Given the description of an element on the screen output the (x, y) to click on. 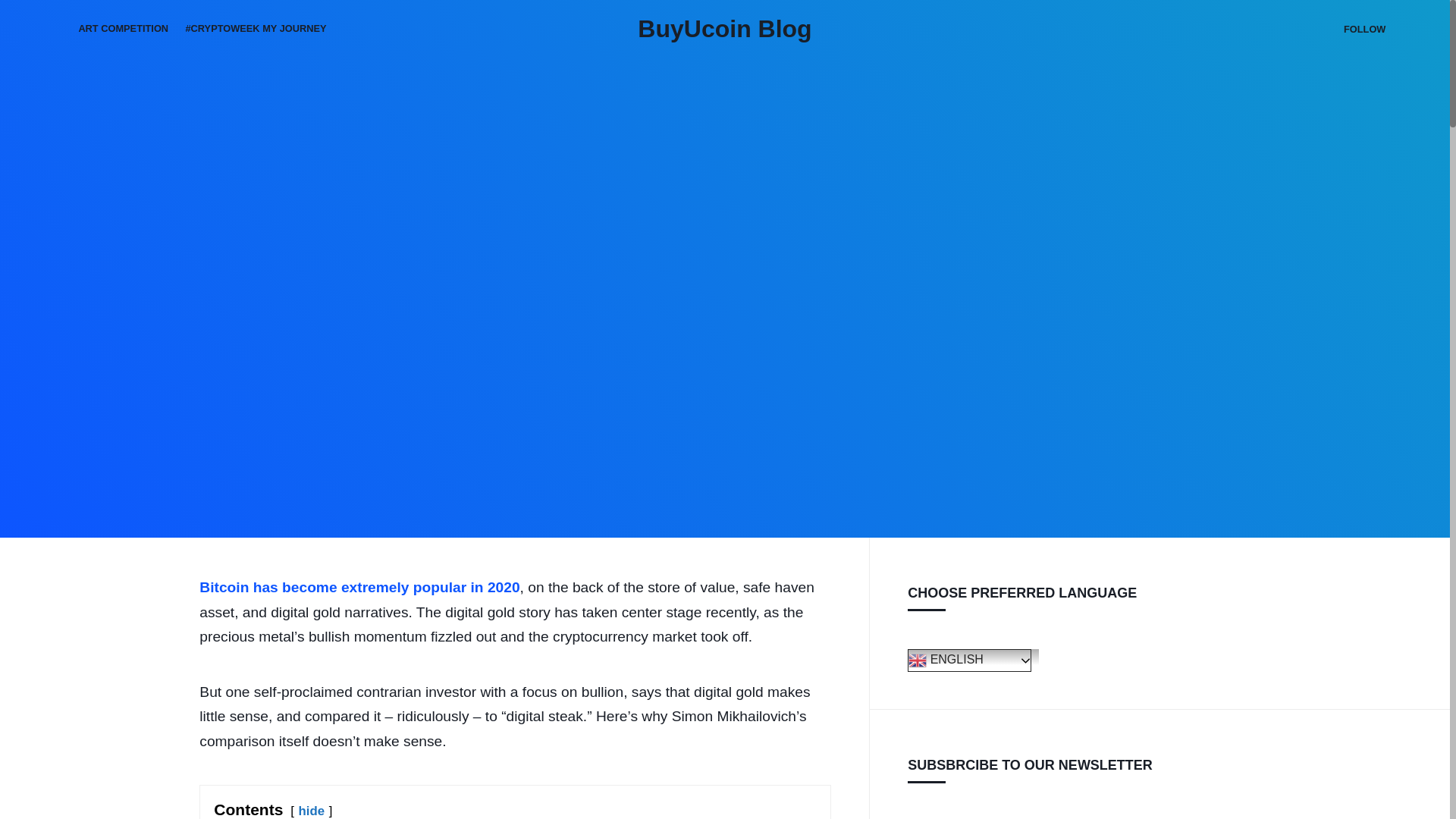
ART COMPETITION (122, 28)
BuyUcoin Blog (723, 28)
FOLLOW (1364, 29)
